Given the description of an element on the screen output the (x, y) to click on. 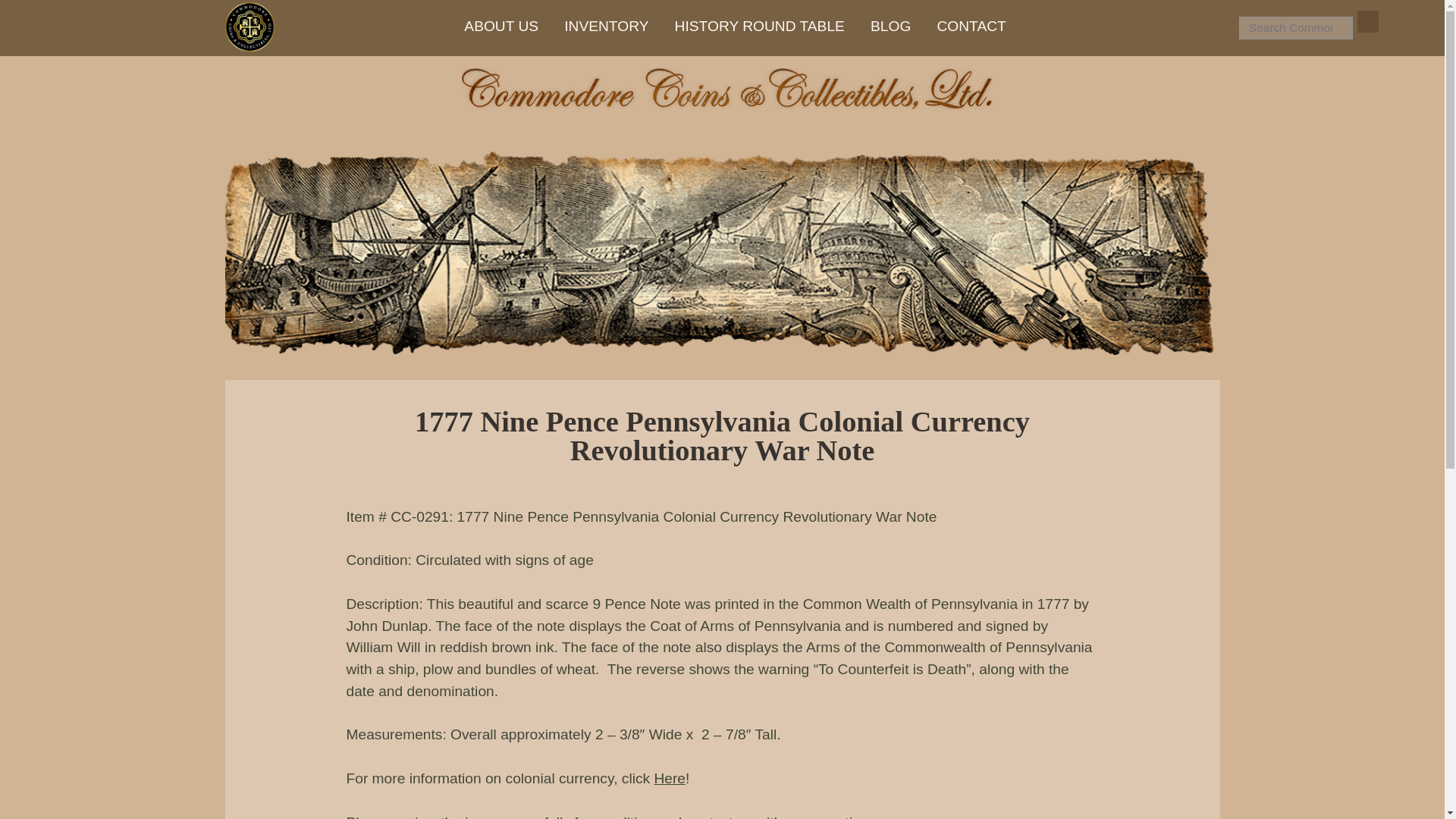
INVENTORY (606, 24)
ABOUT US (501, 24)
BLOG (890, 24)
CONTACT (971, 24)
HISTORY ROUND TABLE (759, 24)
SEARCH (1367, 21)
Here (669, 778)
